Given the description of an element on the screen output the (x, y) to click on. 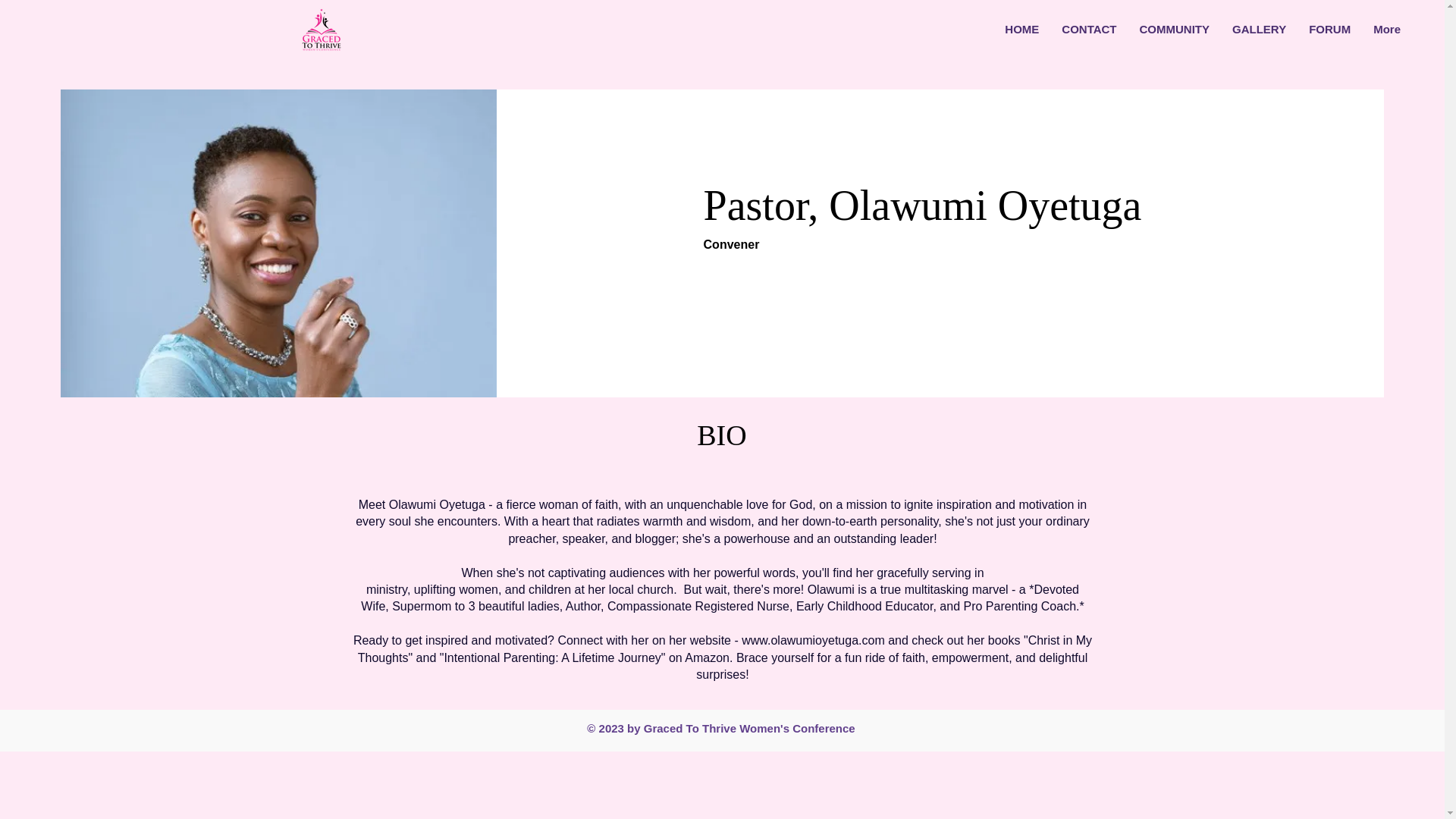
FORUM (1329, 36)
www.olawumioyetuga.com (813, 640)
HOME (1020, 36)
CONTACT (1087, 36)
COMMUNITY (1174, 36)
